Given the description of an element on the screen output the (x, y) to click on. 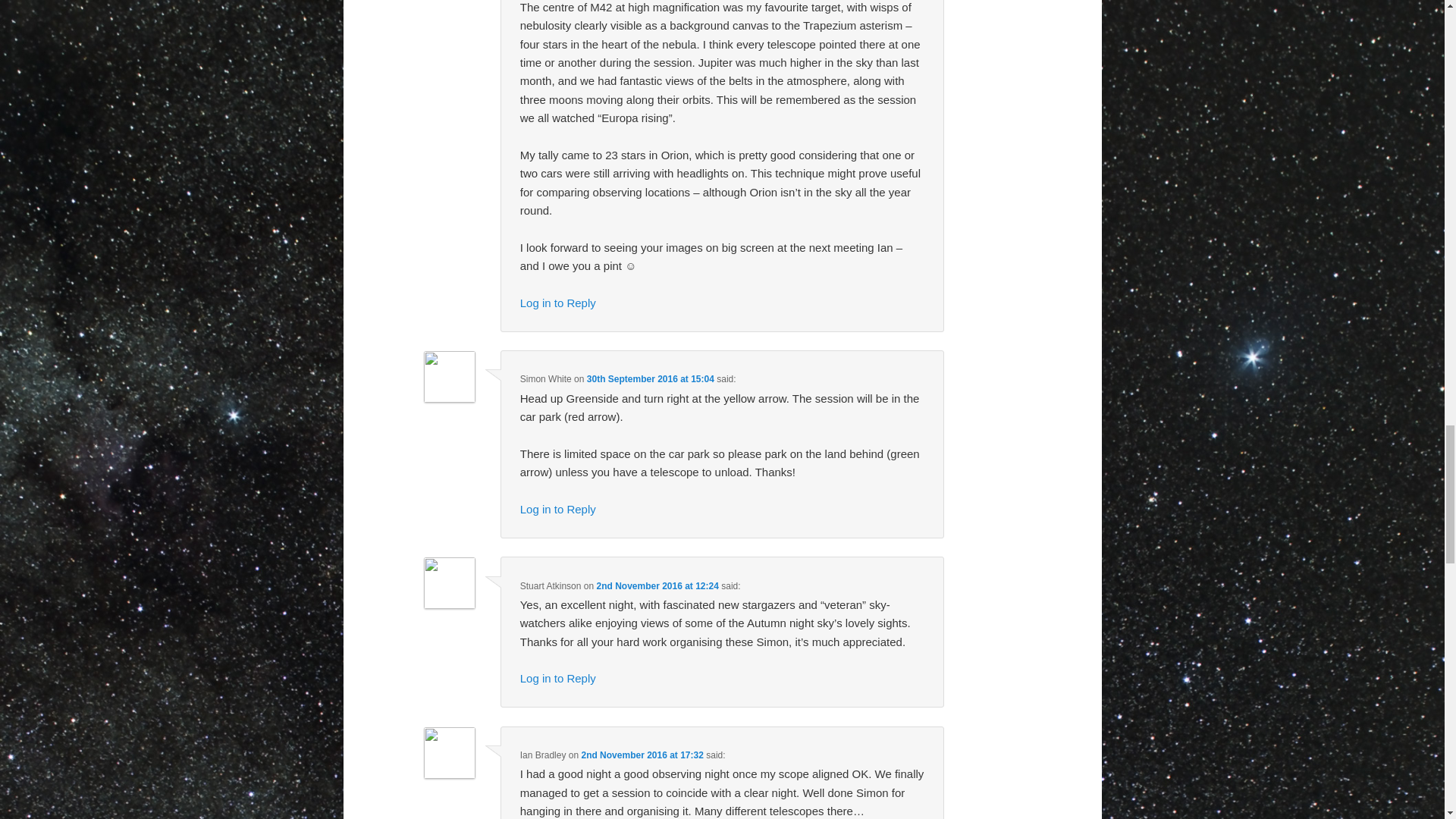
Log in to Reply (557, 302)
30th September 2016 at 15:04 (650, 378)
